Given the description of an element on the screen output the (x, y) to click on. 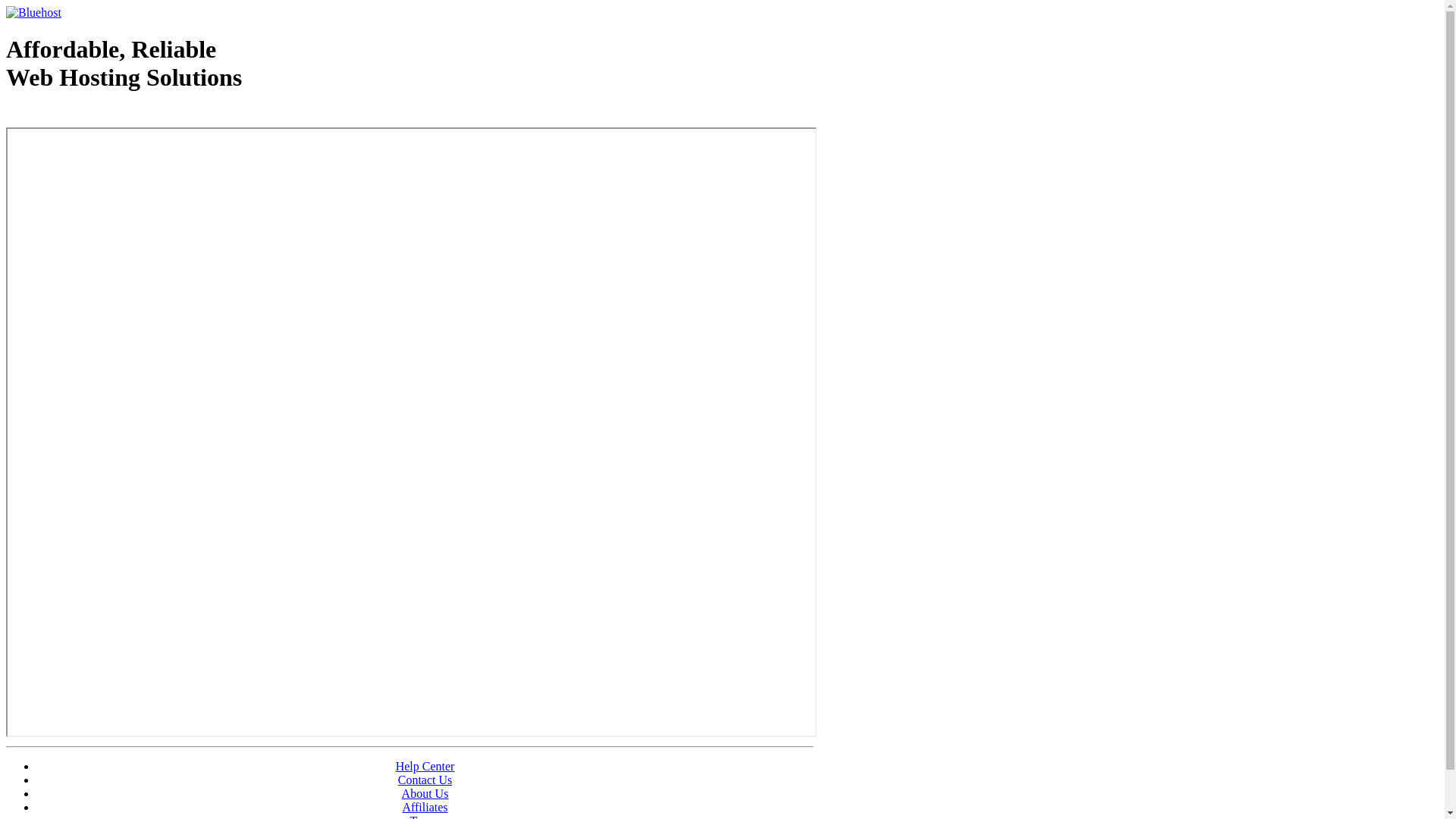
Contact Us Element type: text (425, 779)
Help Center Element type: text (425, 765)
About Us Element type: text (424, 793)
Web Hosting - courtesy of www.bluehost.com Element type: text (94, 115)
Affiliates Element type: text (424, 806)
